Given the description of an element on the screen output the (x, y) to click on. 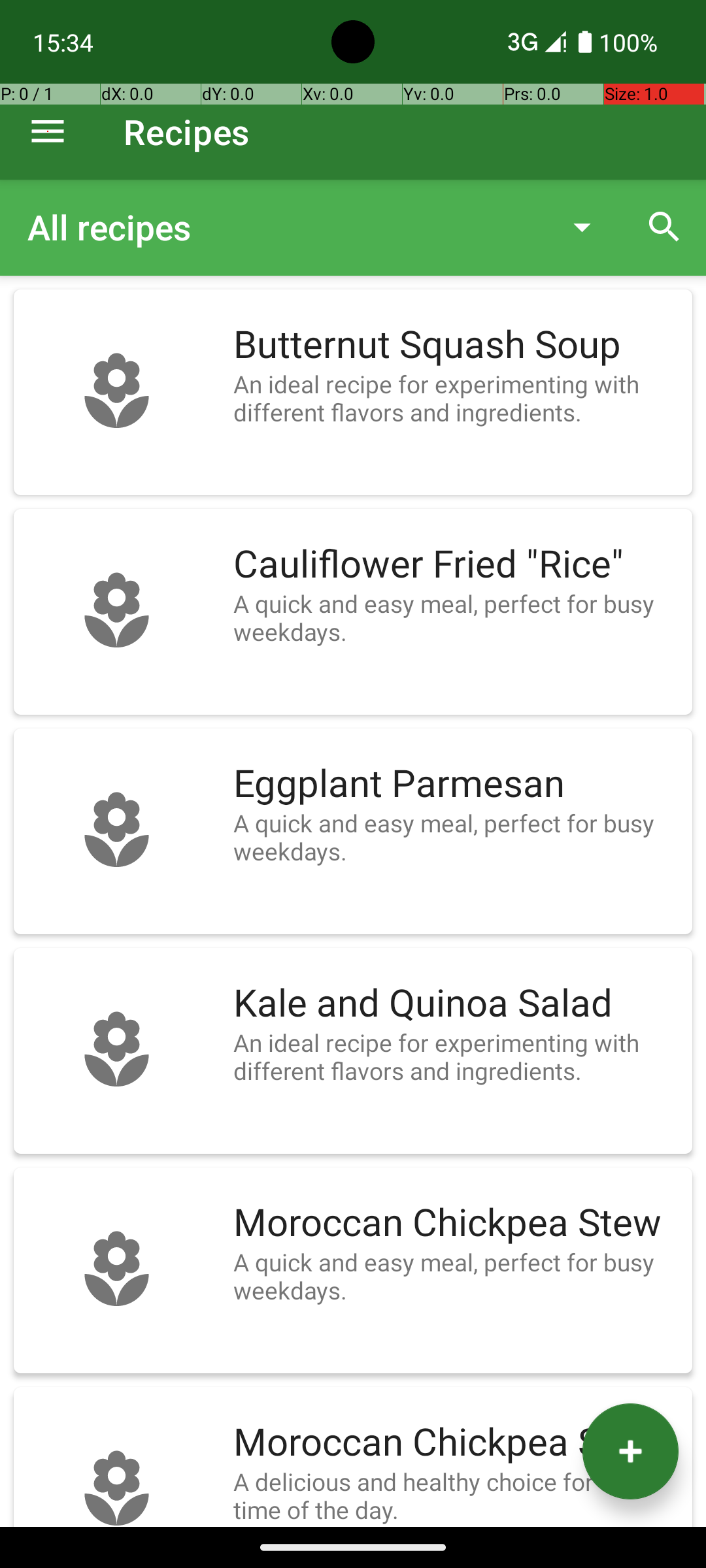
Eggplant Parmesan Element type: android.widget.TextView (455, 783)
Kale and Quinoa Salad Element type: android.widget.TextView (455, 1003)
Moroccan Chickpea Stew Element type: android.widget.TextView (455, 1222)
